Given the description of an element on the screen output the (x, y) to click on. 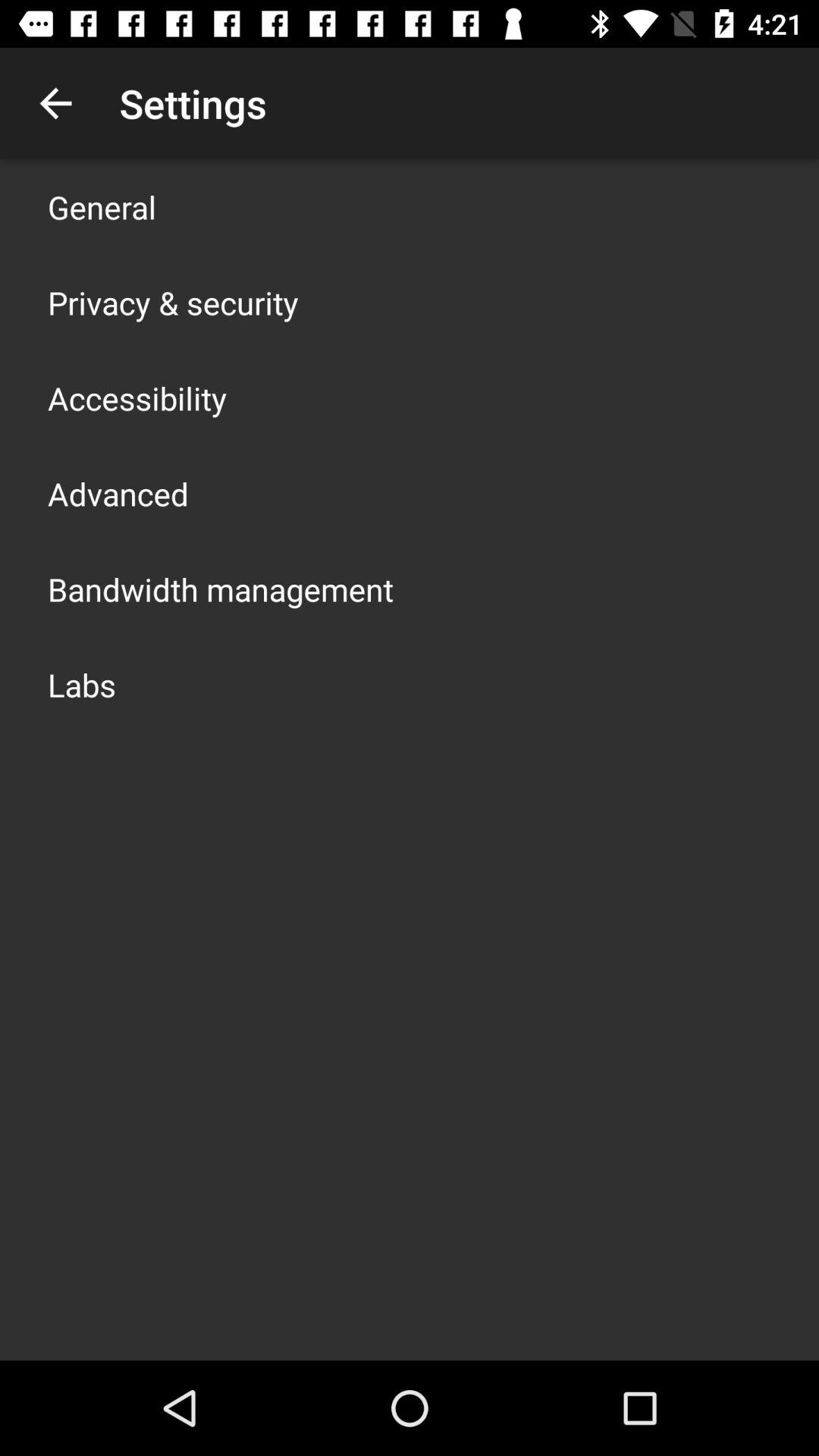
press the item to the left of the settings item (55, 103)
